Given the description of an element on the screen output the (x, y) to click on. 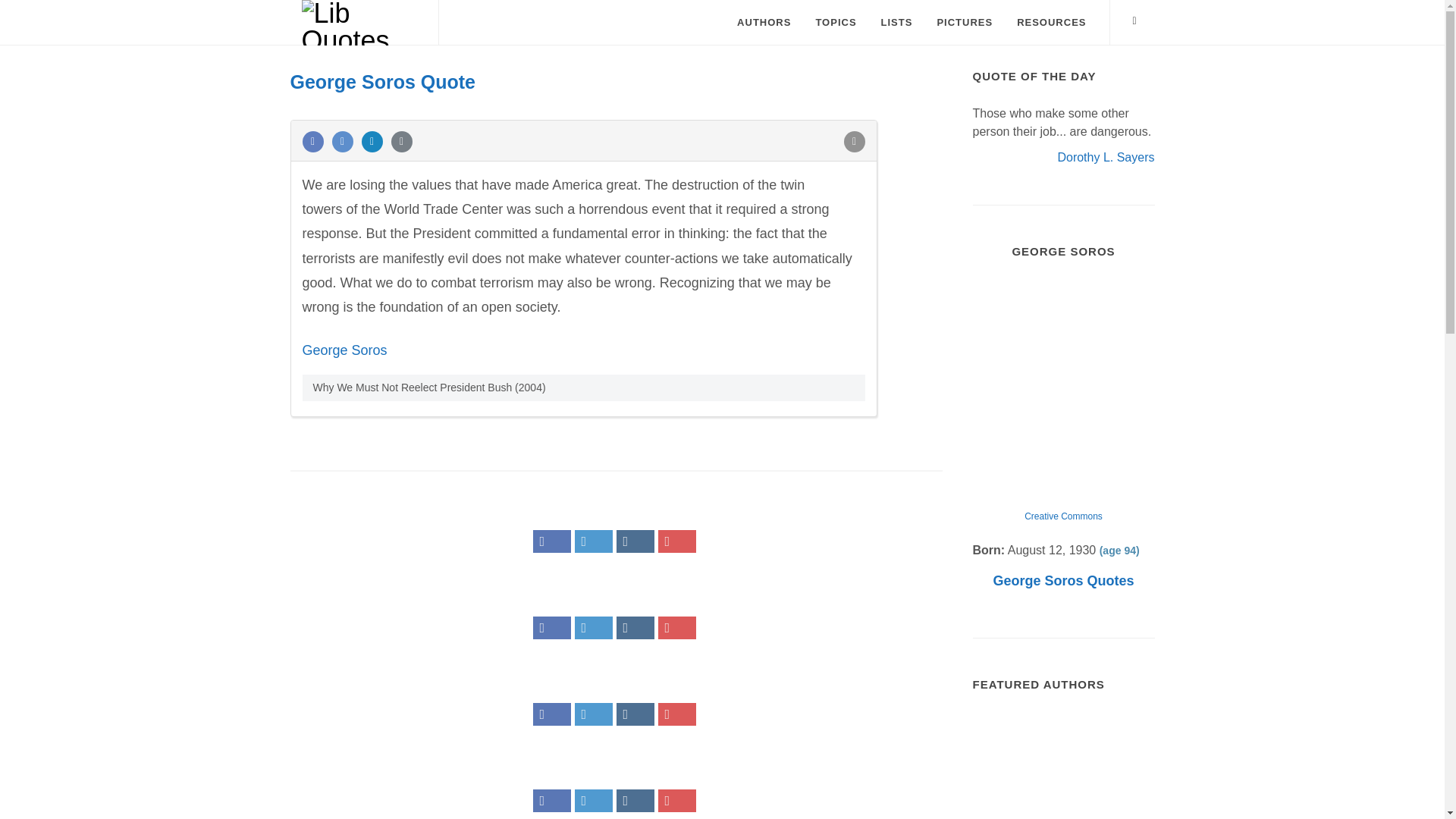
Dante Alighieri (1063, 797)
PICTURES (964, 22)
TOPICS (835, 22)
AUTHORS (763, 22)
Creative Commons (1063, 516)
George Soros (344, 350)
LISTS (896, 22)
Francis Bacon (1124, 797)
Dorothy L. Sayers (1105, 155)
Victor Hugo (1063, 742)
